Given the description of an element on the screen output the (x, y) to click on. 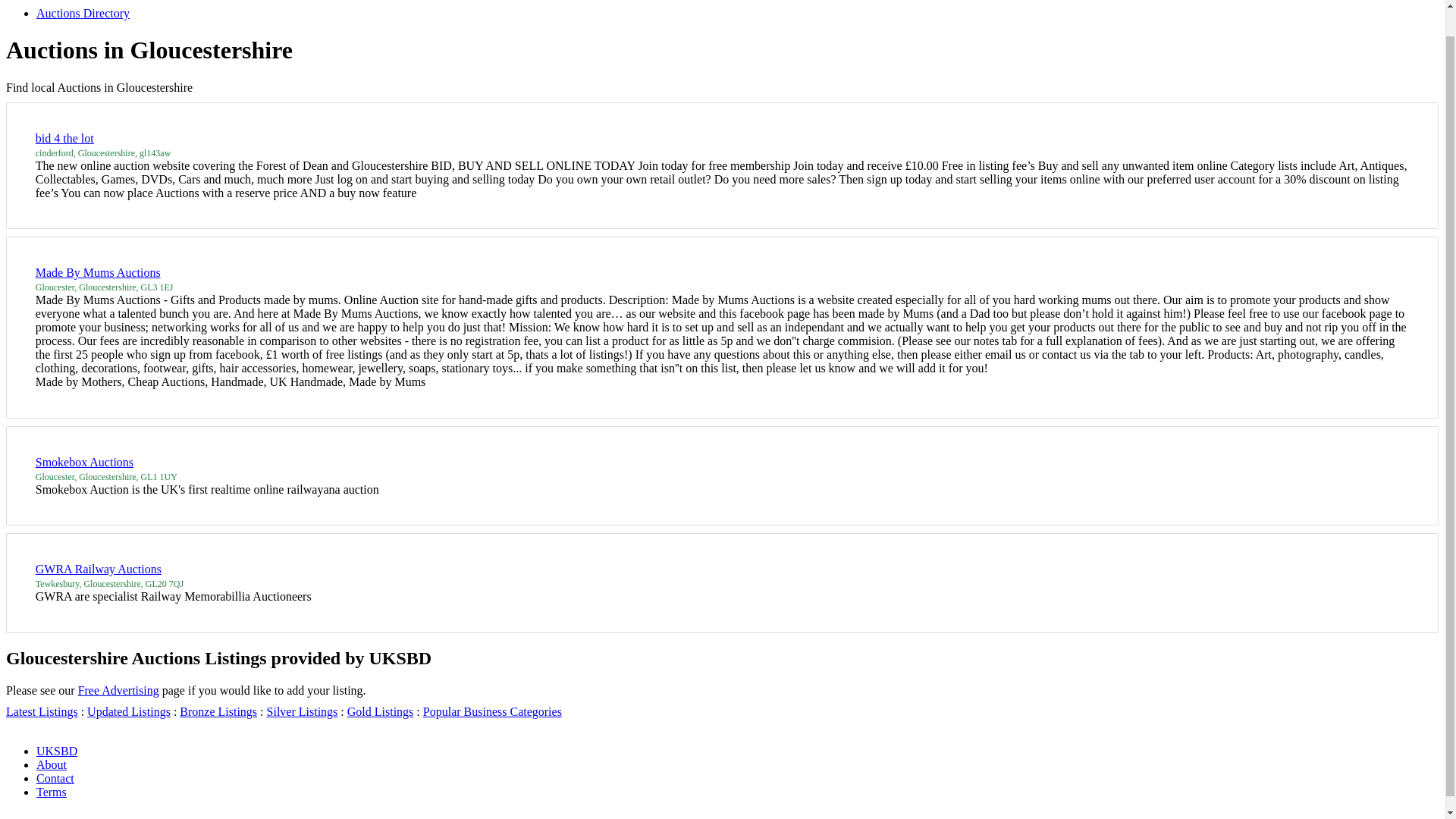
UKSBD (240, 773)
Free Advertising (363, 622)
Updated Listings (367, 674)
Gold Listings (644, 674)
Terms (454, 773)
Made By Mums Auctions (300, 13)
About (311, 773)
Contact (382, 773)
Silver Listings (559, 674)
Smokebox Auctions (286, 323)
Latest Listings (271, 674)
Bronze Listings (468, 674)
GWRA Railway Auctions (299, 433)
Popular Business Categories (771, 674)
